Given the description of an element on the screen output the (x, y) to click on. 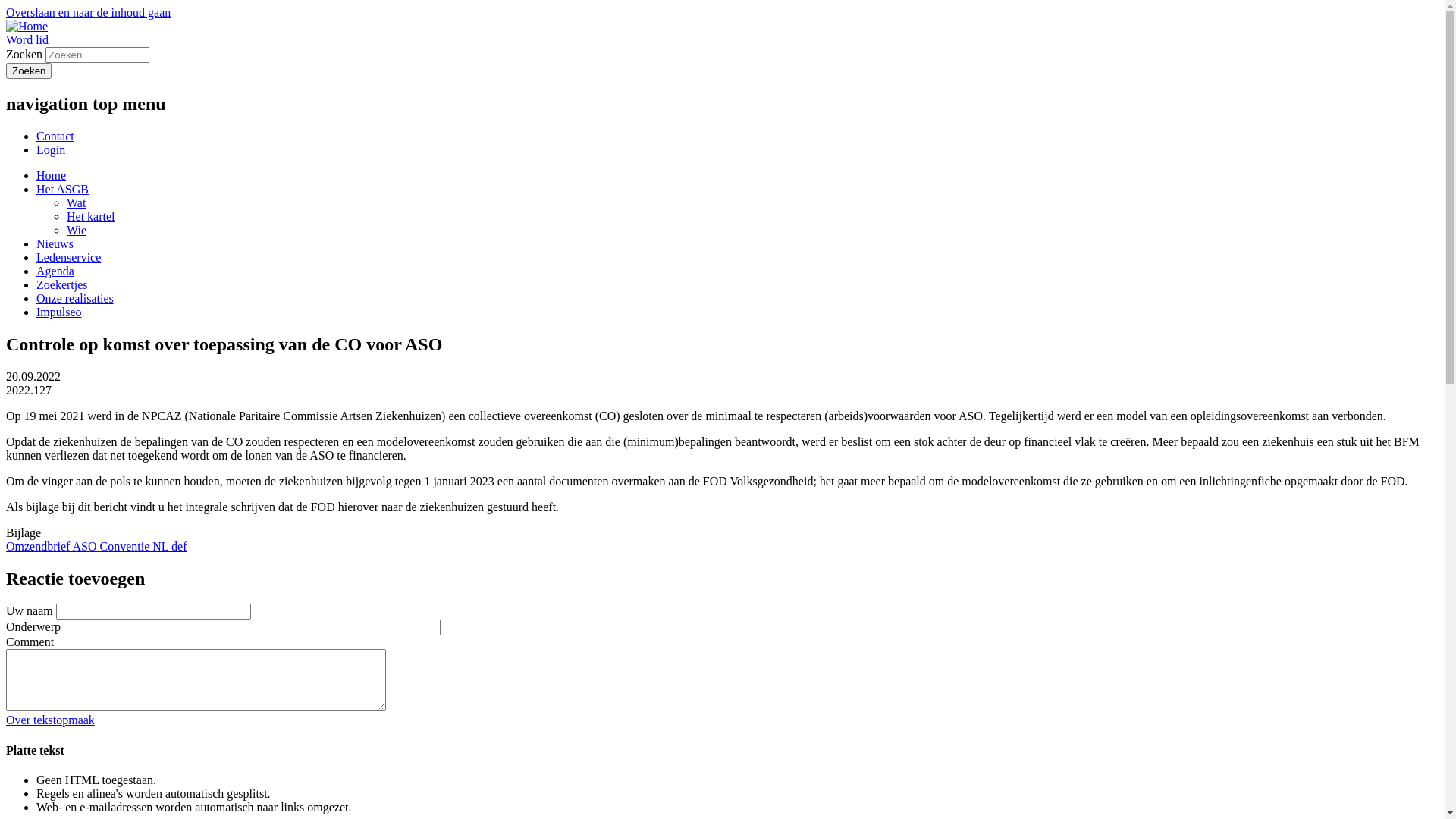
Omzendbrief ASO Conventie NL def Element type: text (96, 545)
Over tekstopmaak Element type: text (50, 719)
Zoeken Element type: text (28, 70)
Contact Element type: text (55, 135)
Login Element type: text (50, 149)
Onze realisaties Element type: text (74, 297)
Wie Element type: text (76, 229)
Het kartel Element type: text (90, 216)
Agenda Element type: text (55, 270)
Overslaan en naar de inhoud gaan Element type: text (88, 12)
Zoekertjes Element type: text (61, 284)
Impulseo Element type: text (58, 311)
Wat Element type: text (75, 202)
Word lid Element type: text (27, 39)
Home Element type: text (50, 175)
Geef de woorden op waarnaar u wilt zoeken. Element type: hover (97, 54)
Ledenservice Element type: text (68, 257)
Het ASGB Element type: text (62, 188)
Nieuws Element type: text (54, 243)
